Given the description of an element on the screen output the (x, y) to click on. 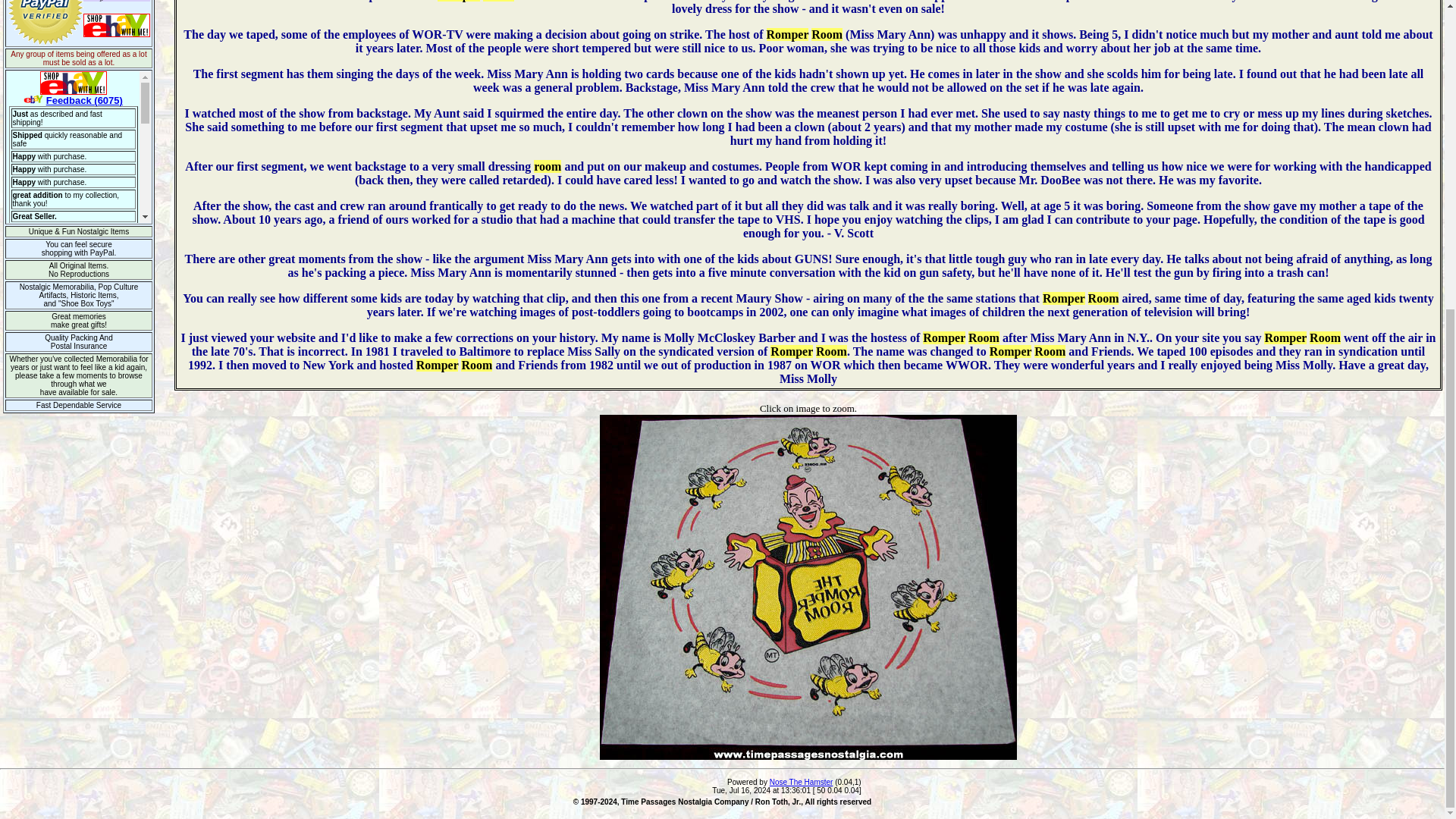
Nose The Hamster (801, 782)
Click on image to zoom. (808, 407)
Recent Feedback (79, 146)
